Given the description of an element on the screen output the (x, y) to click on. 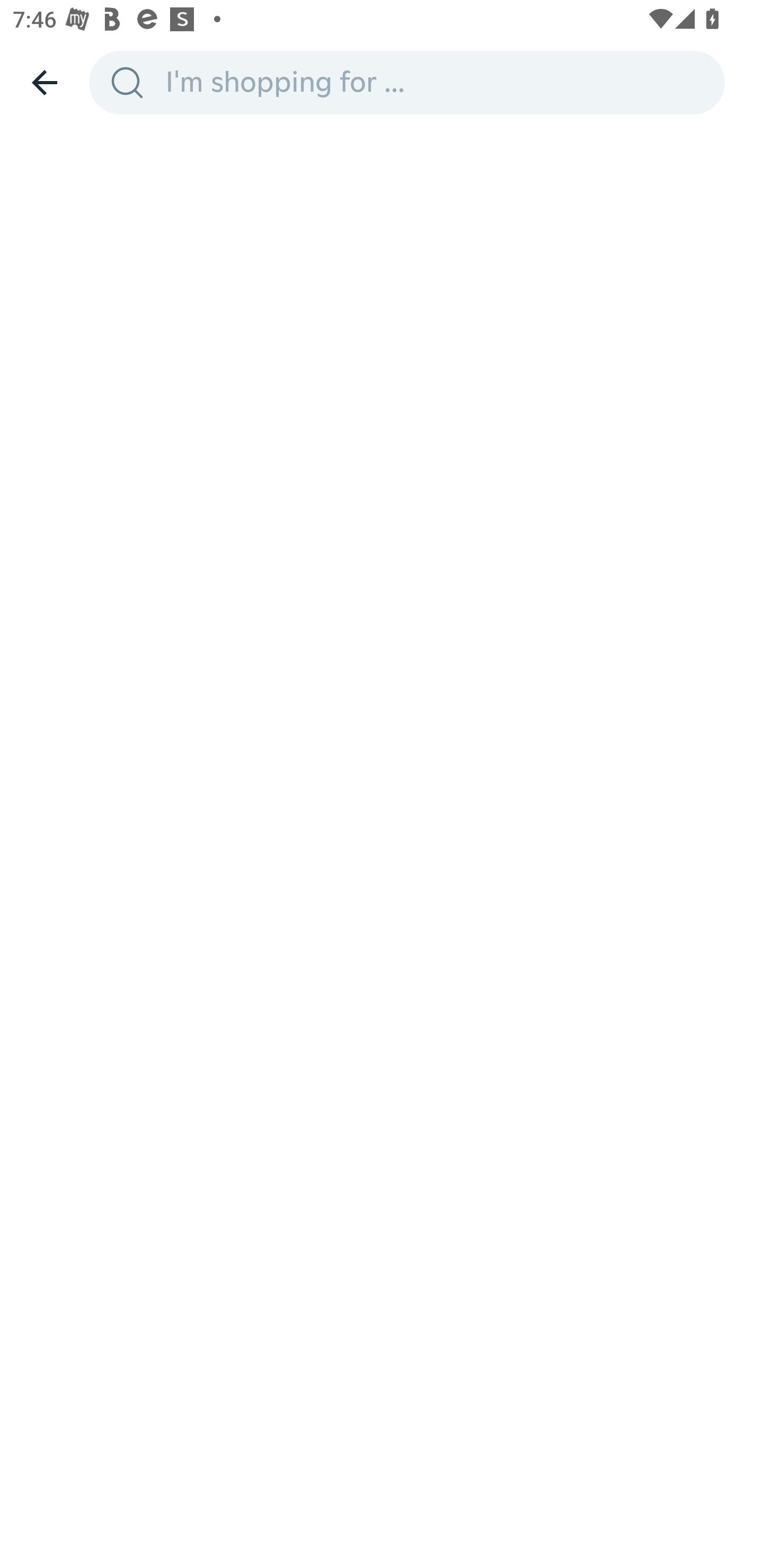
Navigate up (44, 82)
I'm shopping for ... (438, 81)
